Given the description of an element on the screen output the (x, y) to click on. 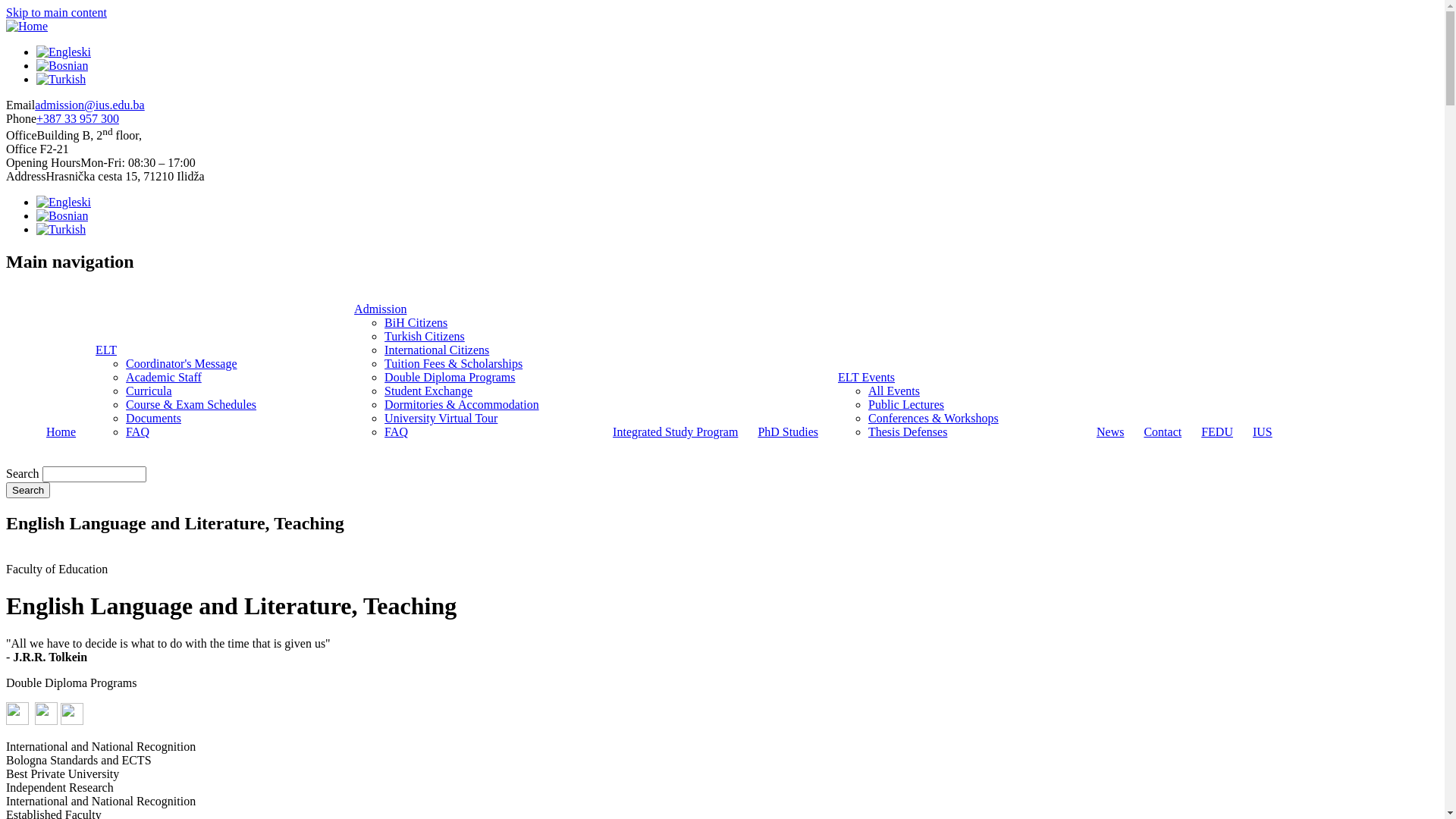
Curricula Element type: text (148, 390)
PhD Studies Element type: text (787, 431)
BiH Citizens Element type: text (415, 322)
Bosnian Element type: hover (61, 65)
Turkish Element type: hover (60, 229)
Enter the terms you wish to search for. Element type: hover (94, 474)
Admission Element type: text (380, 308)
University Virtual Tour Element type: text (440, 417)
International Citizens Element type: text (436, 349)
+387 33 957 300 Element type: text (77, 118)
FAQ Element type: text (395, 431)
Skip to main content Element type: text (56, 12)
Home Element type: hover (26, 25)
Conferences & Workshops Element type: text (933, 417)
Documents Element type: text (153, 417)
ELT Events Element type: text (865, 376)
Bosnian Element type: hover (61, 215)
Student Exchange Element type: text (428, 390)
Coordinator's Message Element type: text (180, 363)
ELT Element type: text (105, 349)
Tuition Fees & Scholarships Element type: text (453, 363)
All Events Element type: text (893, 390)
IUS Element type: text (1262, 431)
Public Lectures Element type: text (906, 404)
Dormitories & Accommodation Element type: text (461, 404)
Engleski Element type: hover (63, 202)
FEDU Element type: text (1217, 431)
FAQ Element type: text (137, 431)
     Element type: text (46, 720)
admission@ius.edu.ba Element type: text (89, 104)
Integrated Study Program Element type: text (674, 431)
Contact Element type: text (1162, 431)
Academic Staff Element type: text (163, 376)
Double Diploma Programs Element type: text (449, 376)
Engleski Element type: hover (63, 52)
Thesis Defenses Element type: text (907, 431)
News Element type: text (1109, 431)
Turkish Element type: hover (60, 79)
Home Element type: text (60, 431)
Turkish Citizens Element type: text (424, 335)
Search Element type: text (28, 490)
Course & Exam Schedules Element type: text (190, 404)
